Given the description of an element on the screen output the (x, y) to click on. 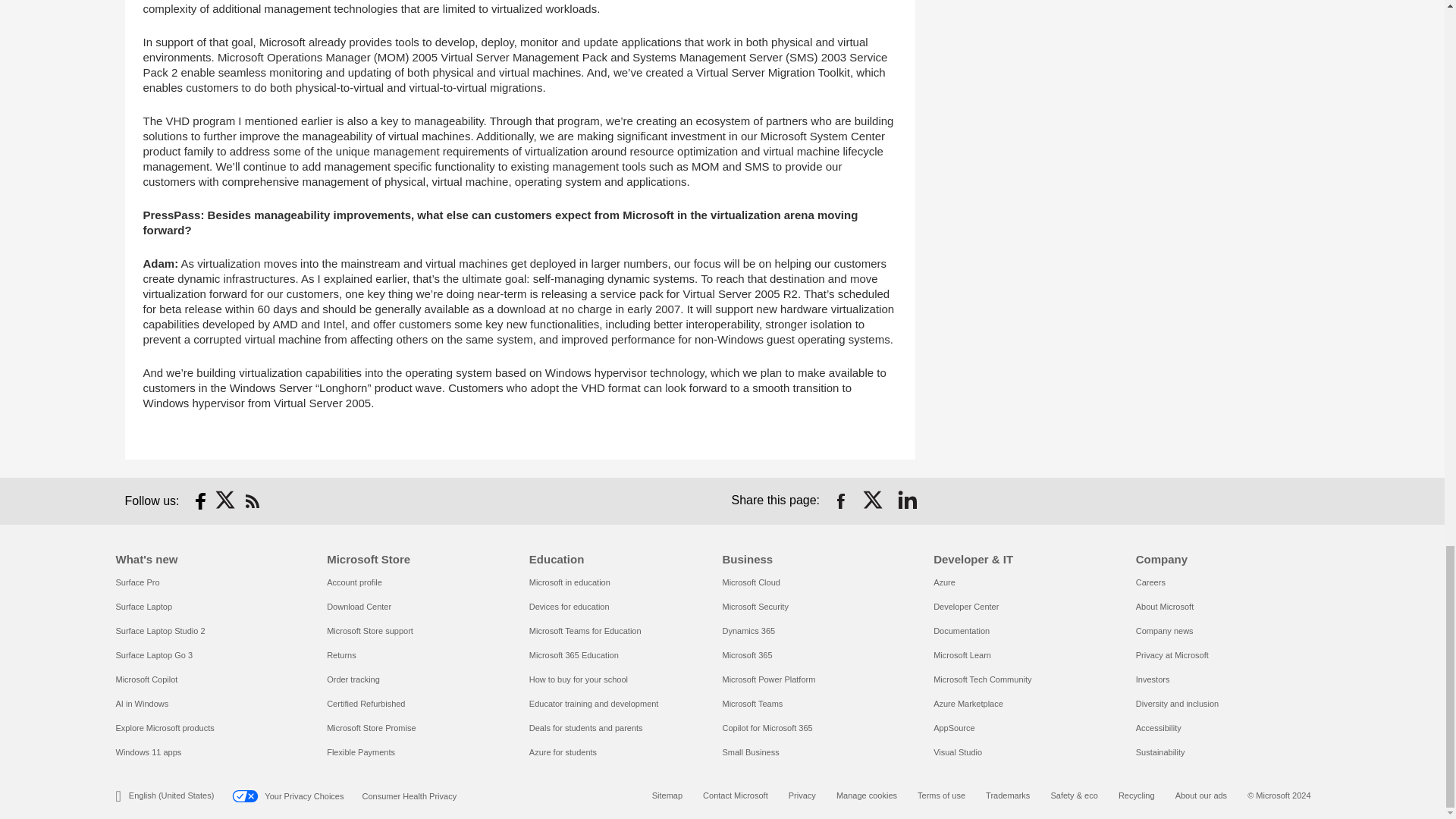
Follow on Facebook (200, 500)
Share on Twitter (873, 500)
Share on LinkedIn (907, 500)
Follow on Twitter (226, 500)
Share on Facebook (840, 500)
RSS Subscription (252, 500)
